Given the description of an element on the screen output the (x, y) to click on. 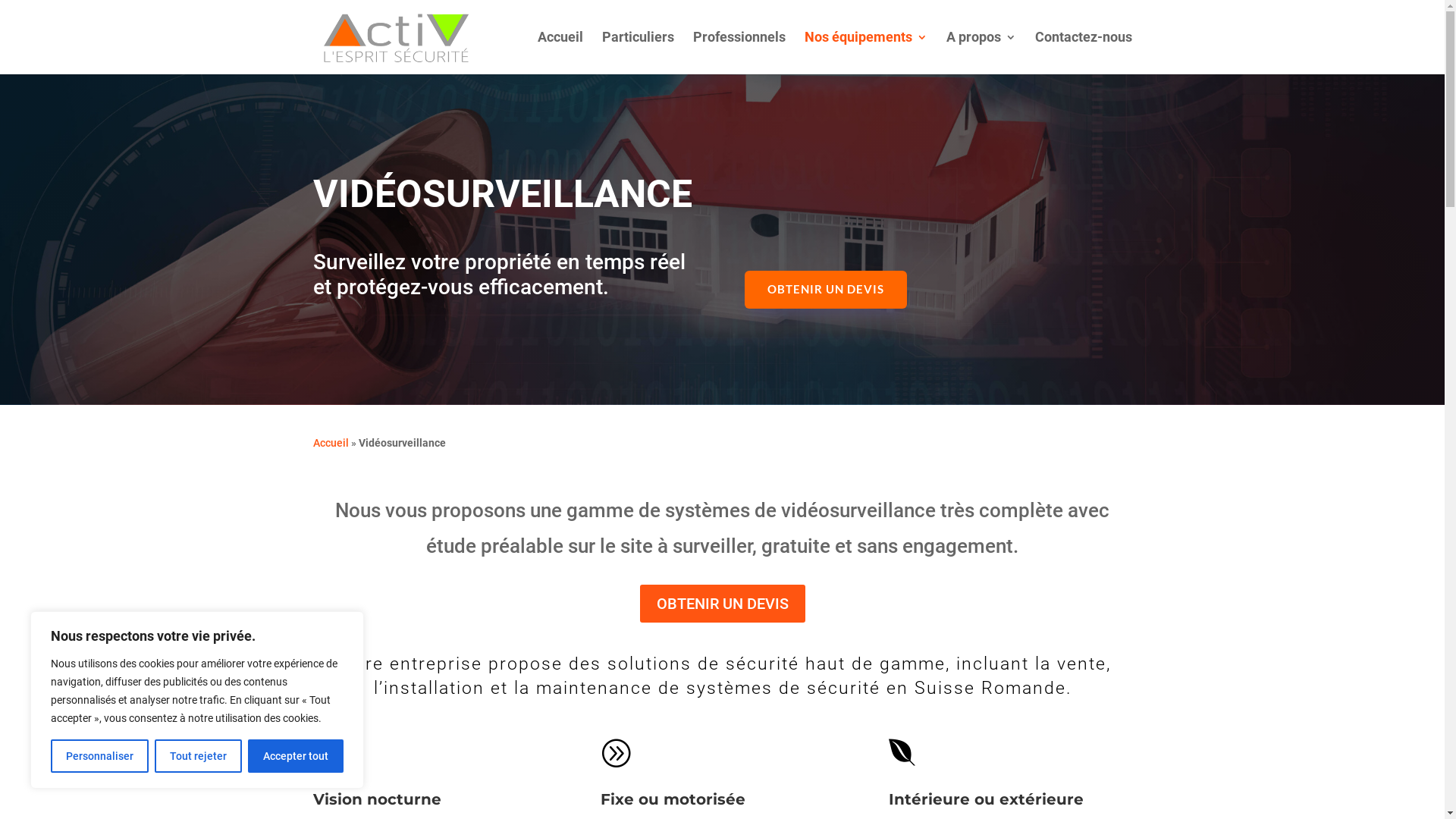
Professionnels Element type: text (739, 52)
Contactez-nous Element type: text (1082, 52)
Accepter tout Element type: text (295, 755)
Accueil Element type: text (330, 442)
OBTENIR UN DEVIS Element type: text (722, 603)
Particuliers Element type: text (638, 52)
OBTENIR UN DEVIS Element type: text (825, 289)
Accueil Element type: text (559, 52)
Personnaliser Element type: text (99, 755)
Tout rejeter Element type: text (197, 755)
A propos Element type: text (981, 52)
